Given the description of an element on the screen output the (x, y) to click on. 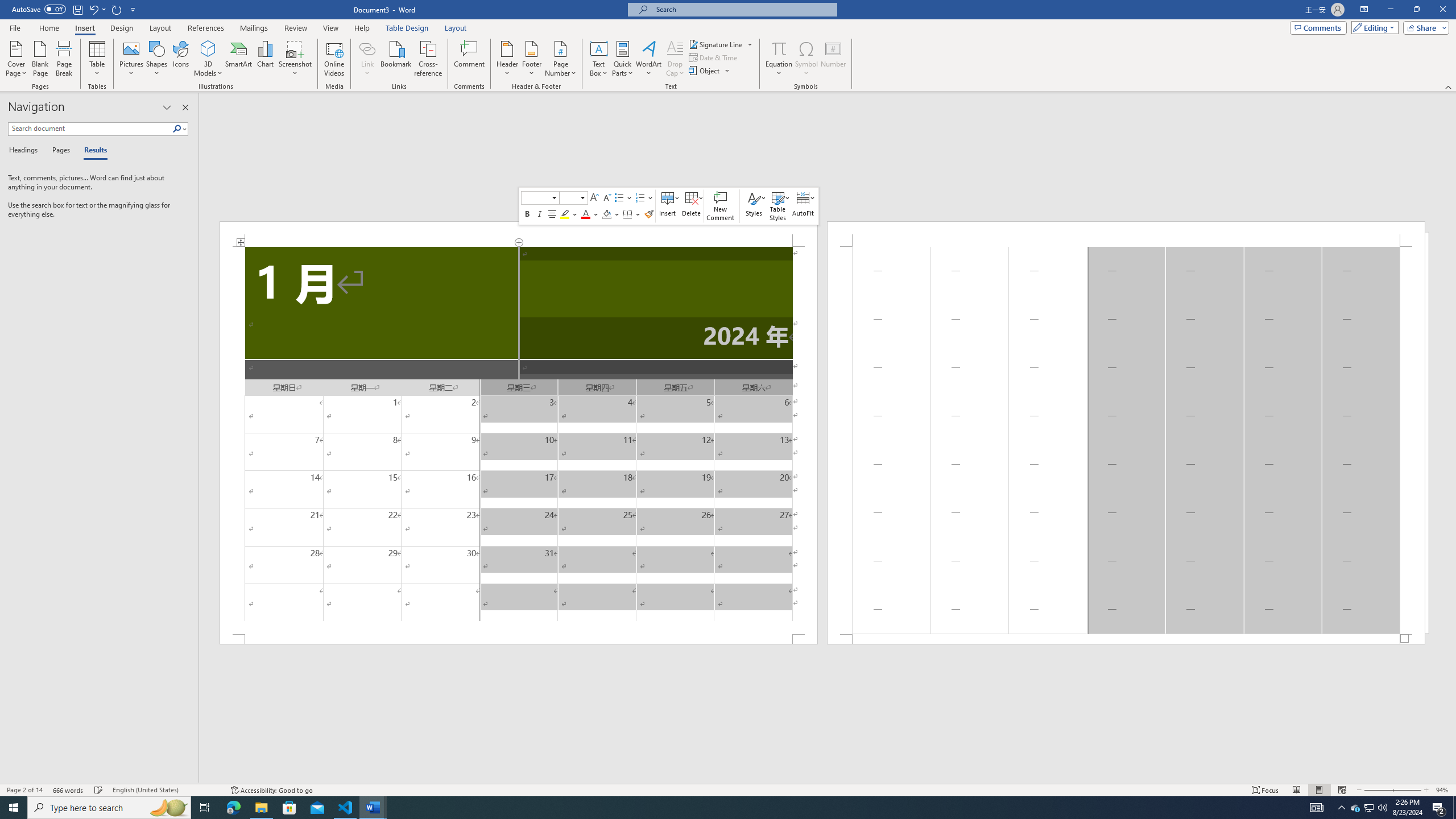
Date & Time... (714, 56)
Delete (691, 205)
Blank Page (40, 58)
Footer (531, 58)
Signature Line (716, 44)
Class: NetUIToolWindow (668, 205)
Drop Cap (674, 58)
Word Count 666 words (68, 790)
Signature Line (721, 44)
Equation (778, 48)
New Comment (720, 205)
